Given the description of an element on the screen output the (x, y) to click on. 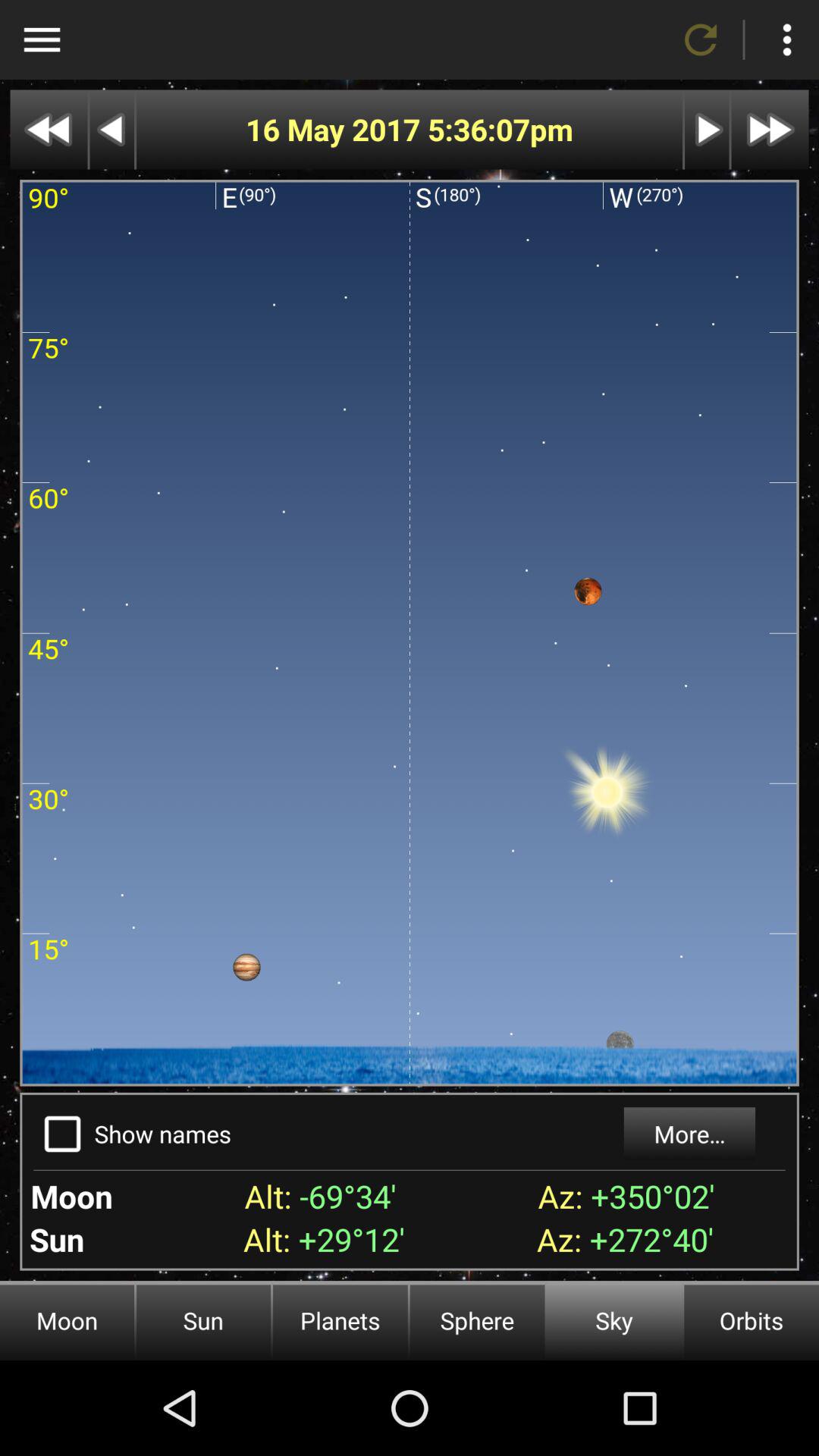
fast forward buttong (706, 129)
